Given the description of an element on the screen output the (x, y) to click on. 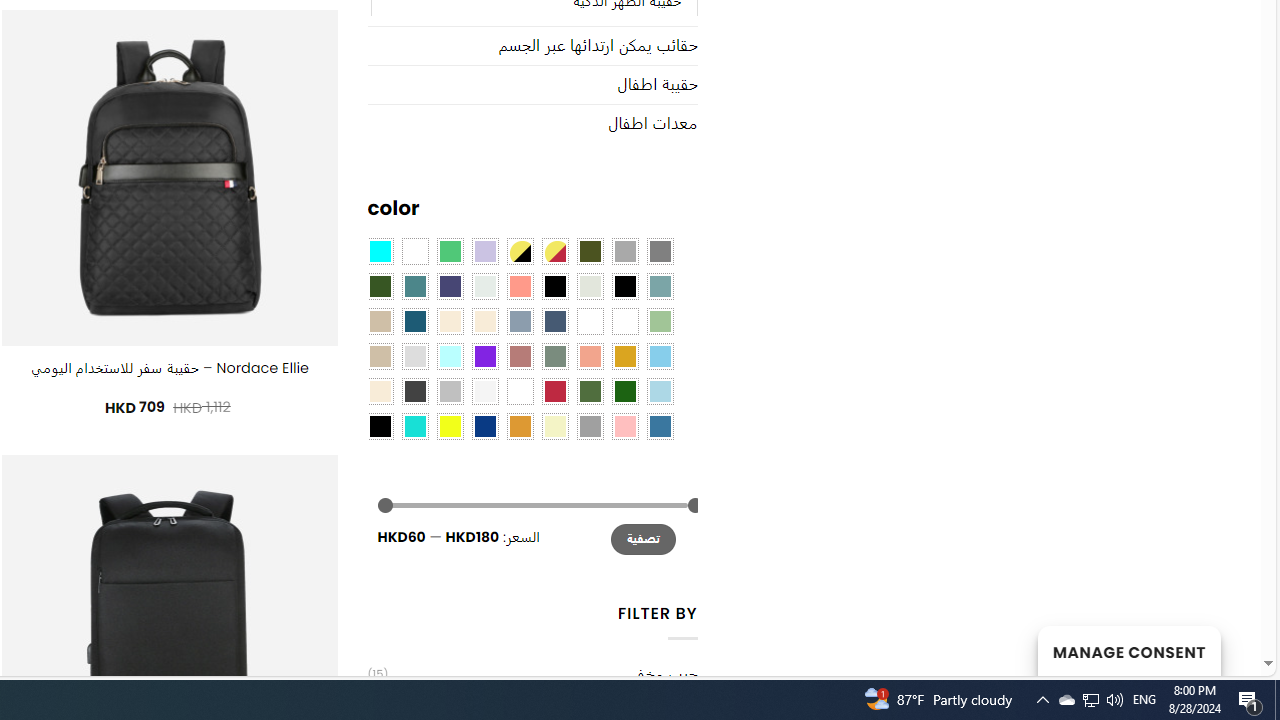
Aqua Blue (379, 251)
MANAGE CONSENT (1128, 650)
Clear (414, 251)
Purple (484, 355)
Light-Gray (414, 355)
Emerald Green (449, 251)
Caramel (449, 321)
All Black (554, 285)
Dusty Blue (519, 321)
Hale Navy (554, 321)
Cream (484, 321)
